Given the description of an element on the screen output the (x, y) to click on. 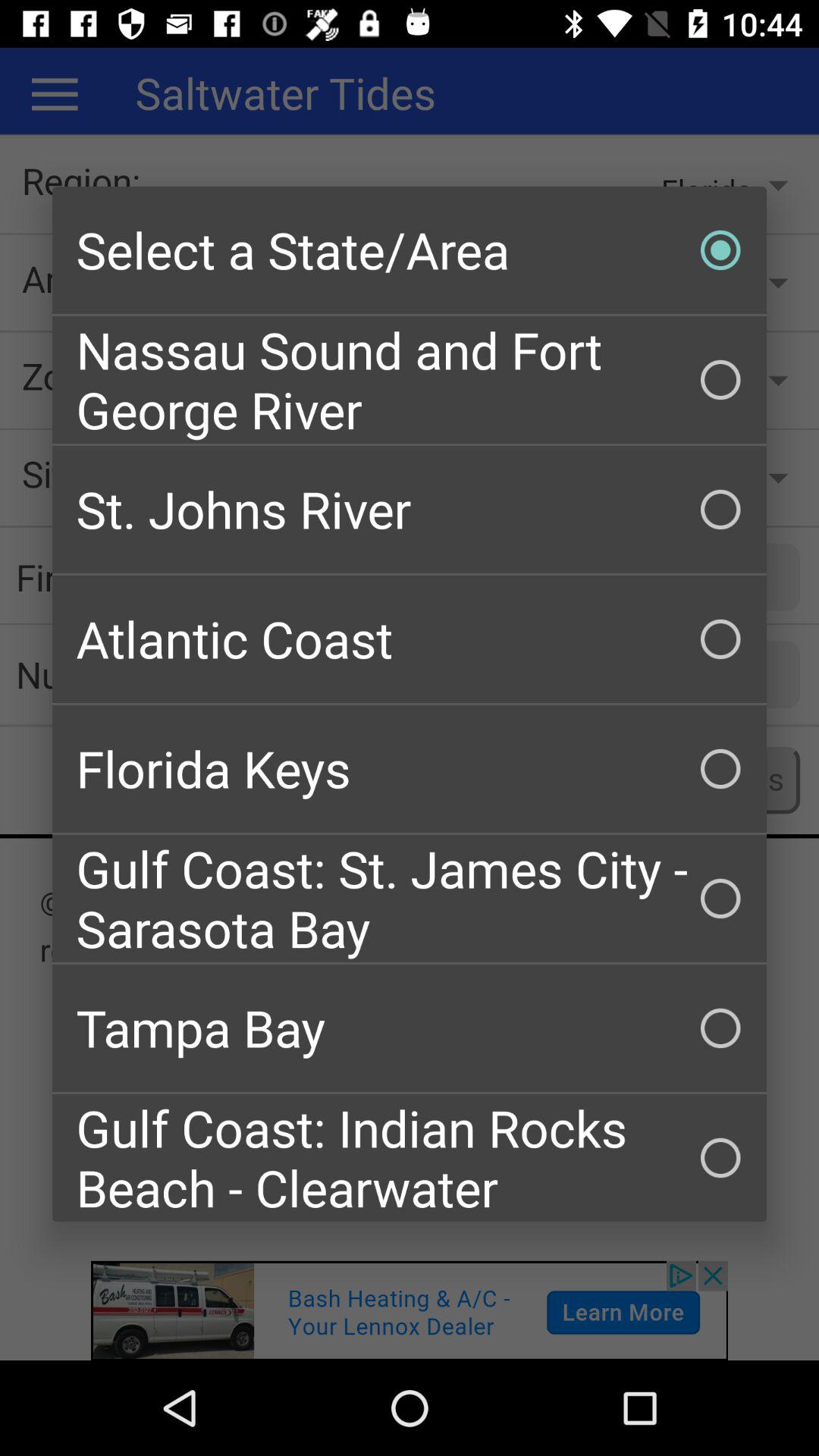
open checkbox below atlantic coast (409, 768)
